Given the description of an element on the screen output the (x, y) to click on. 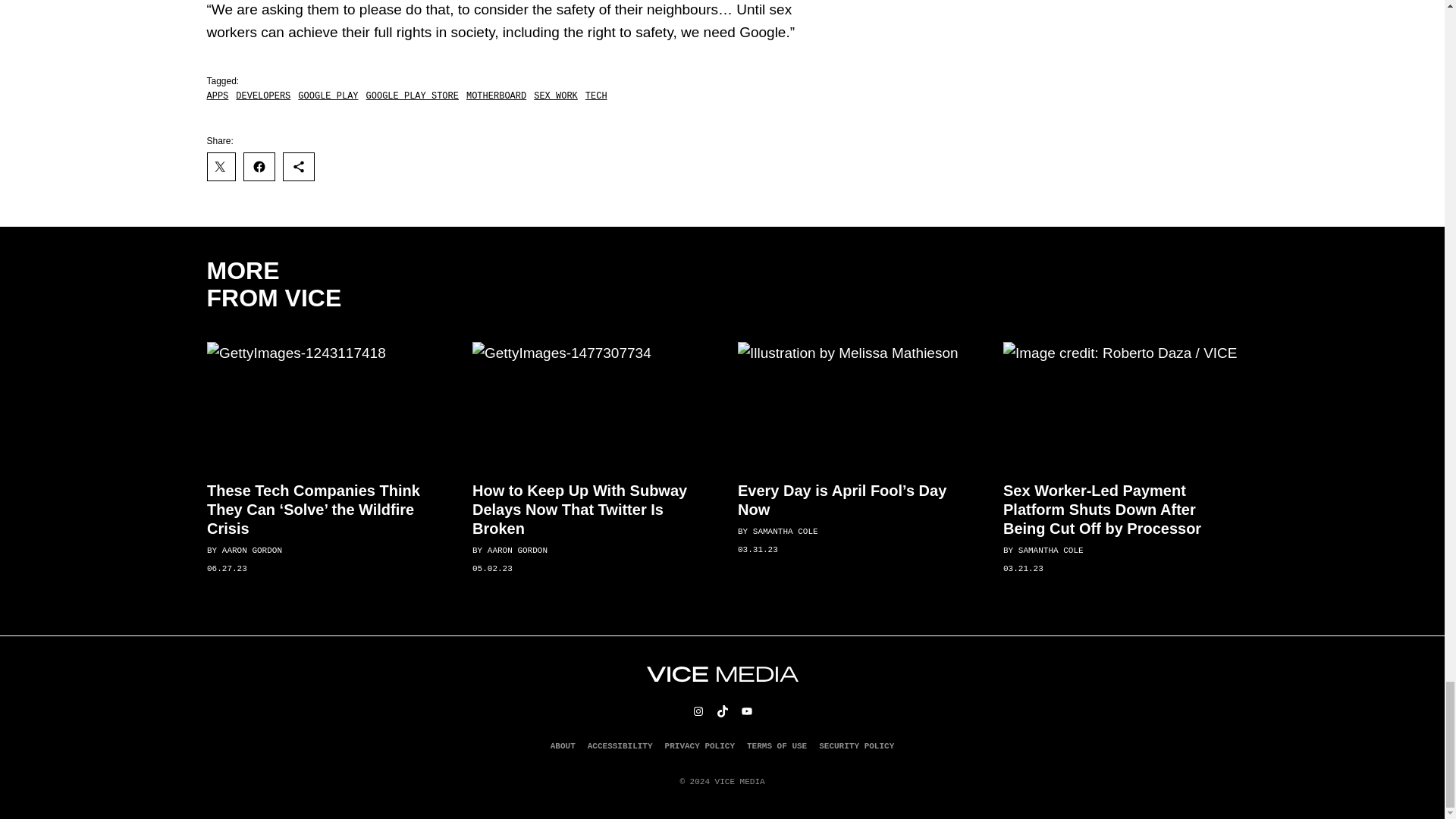
Posts by Aaron Gordon (516, 550)
Posts by Samantha Cole (784, 531)
Posts by Aaron Gordon (251, 550)
